Given the description of an element on the screen output the (x, y) to click on. 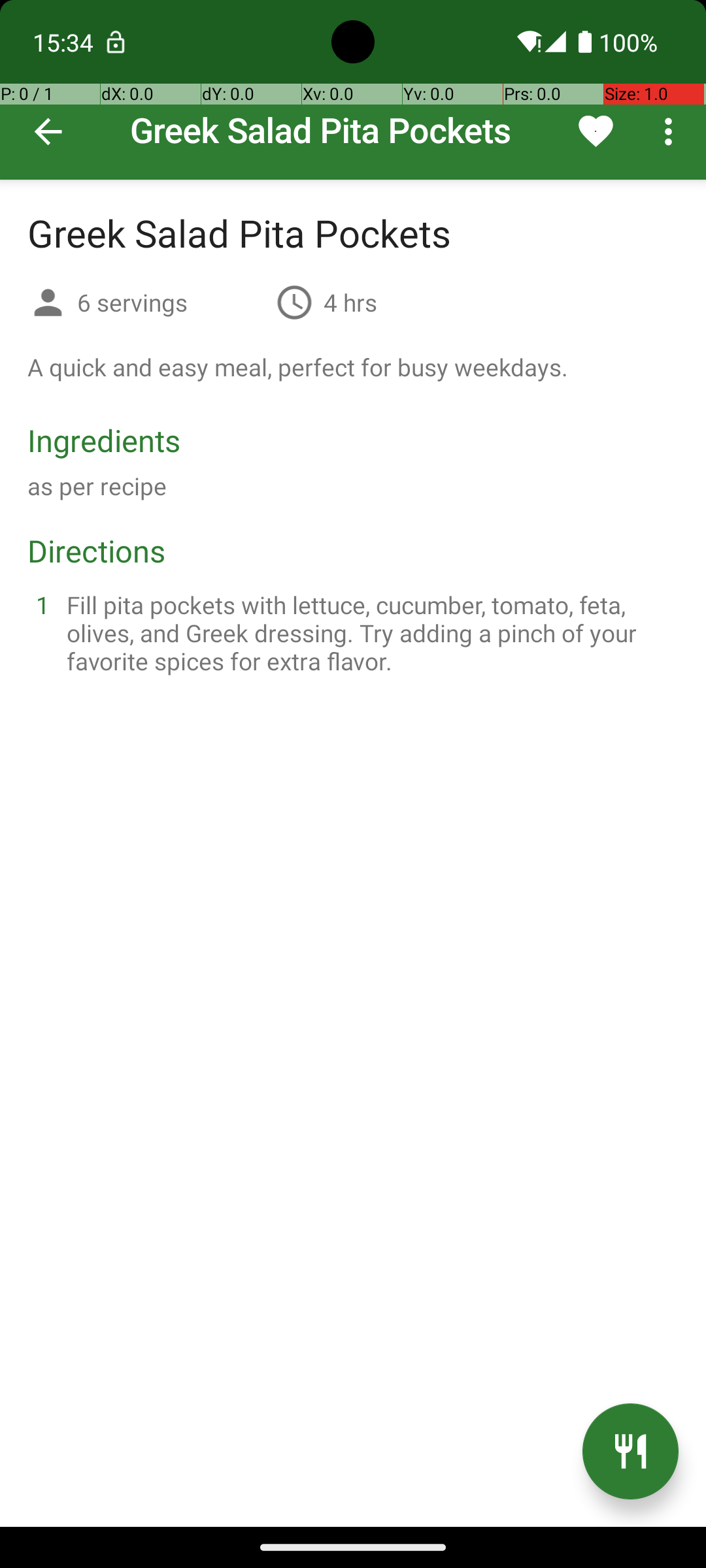
Fill pita pockets with lettuce, cucumber, tomato, feta, olives, and Greek dressing. Try adding a pinch of your favorite spices for extra flavor. Element type: android.widget.TextView (368, 632)
